Given the description of an element on the screen output the (x, y) to click on. 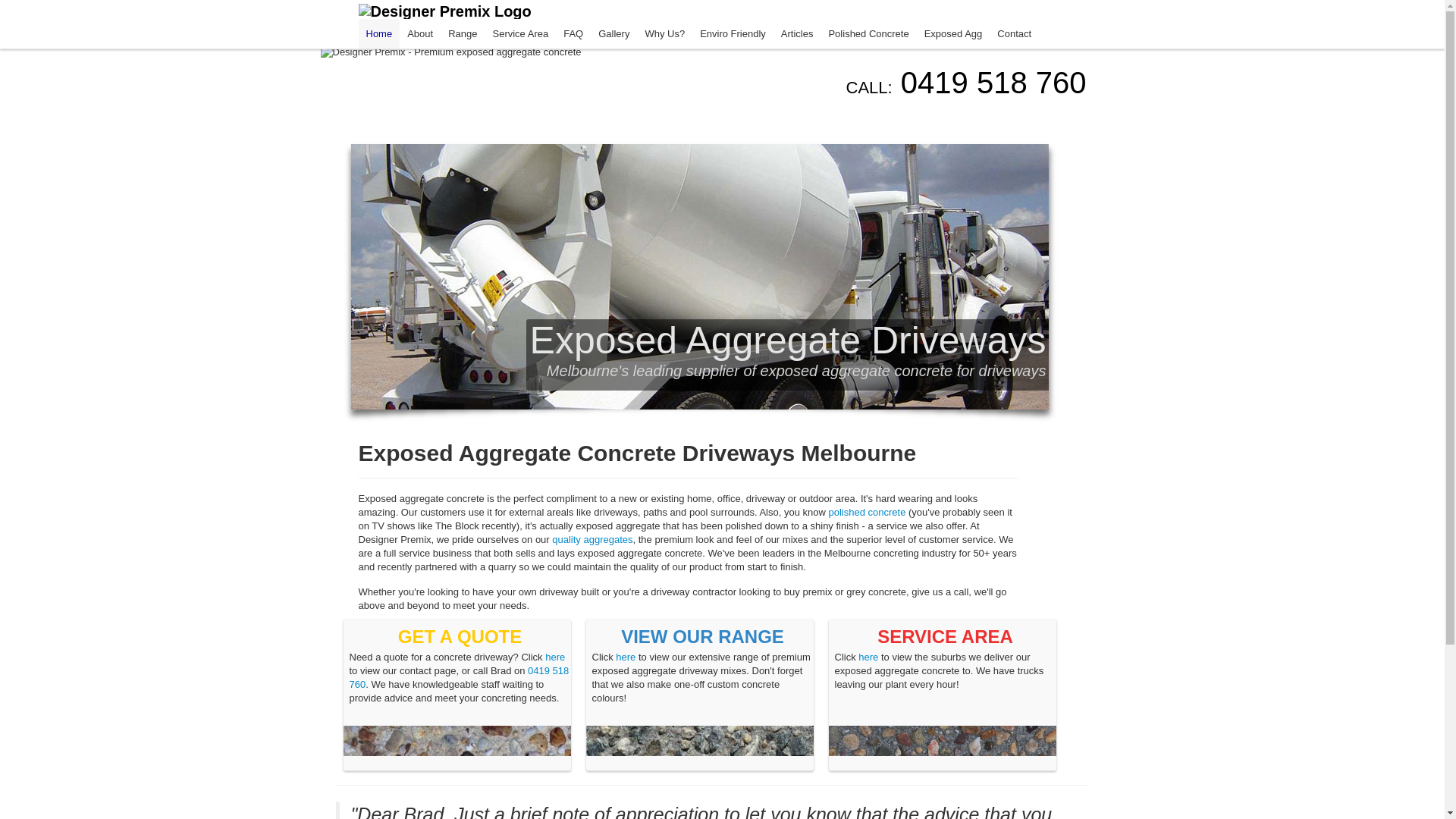
Exposed Agg Element type: text (953, 33)
Contact Element type: text (1013, 33)
Enviro Friendly Element type: text (732, 33)
Service Area Element type: text (519, 33)
0419 518 760 Element type: text (458, 677)
polished concrete Element type: text (866, 511)
here Element type: text (554, 656)
About Element type: text (419, 33)
FAQ Element type: text (572, 33)
Polished Concrete Element type: text (868, 33)
Home Element type: text (378, 33)
quality aggregates Element type: text (592, 539)
Designer Premix Logo Element type: hover (443, 10)
Why Us? Element type: text (664, 33)
Articles Element type: text (797, 33)
Gallery Element type: text (613, 33)
here Element type: text (868, 656)
CALL: 0419 518 760 Element type: text (966, 82)
Range Element type: text (462, 33)
here Element type: text (625, 656)
